Given the description of an element on the screen output the (x, y) to click on. 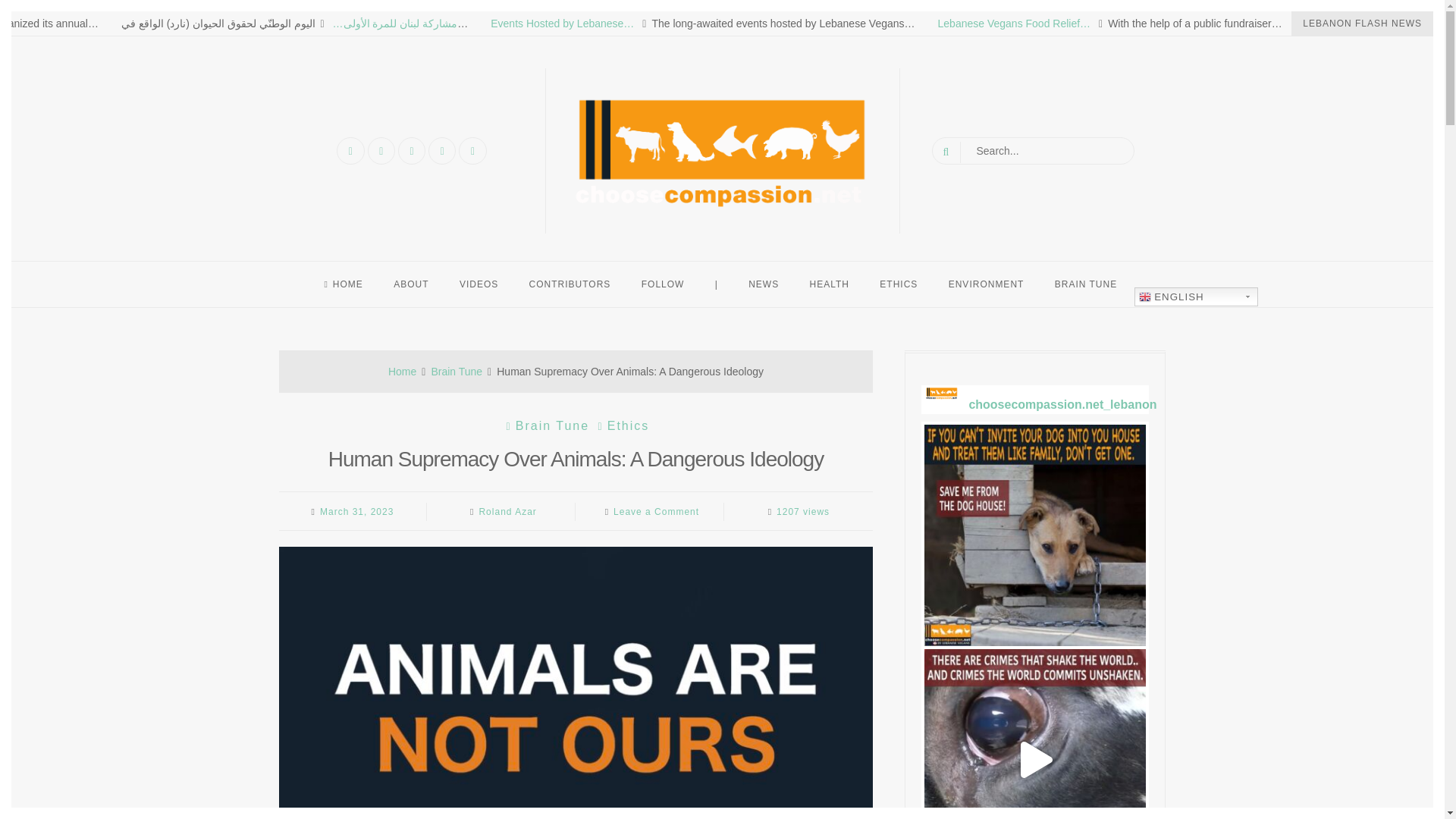
CONTRIBUTORS (569, 284)
Email (441, 150)
Choose Compassion (691, 244)
HOME (342, 284)
VIDEOS (478, 284)
ENVIRONMENT (986, 284)
YouTube (381, 150)
BRAIN TUNE (1086, 284)
FOLLOW (662, 284)
Facebook feed (662, 284)
ABOUT (411, 284)
Instagram (411, 150)
Facebook (350, 150)
ETHICS (898, 284)
